Given the description of an element on the screen output the (x, y) to click on. 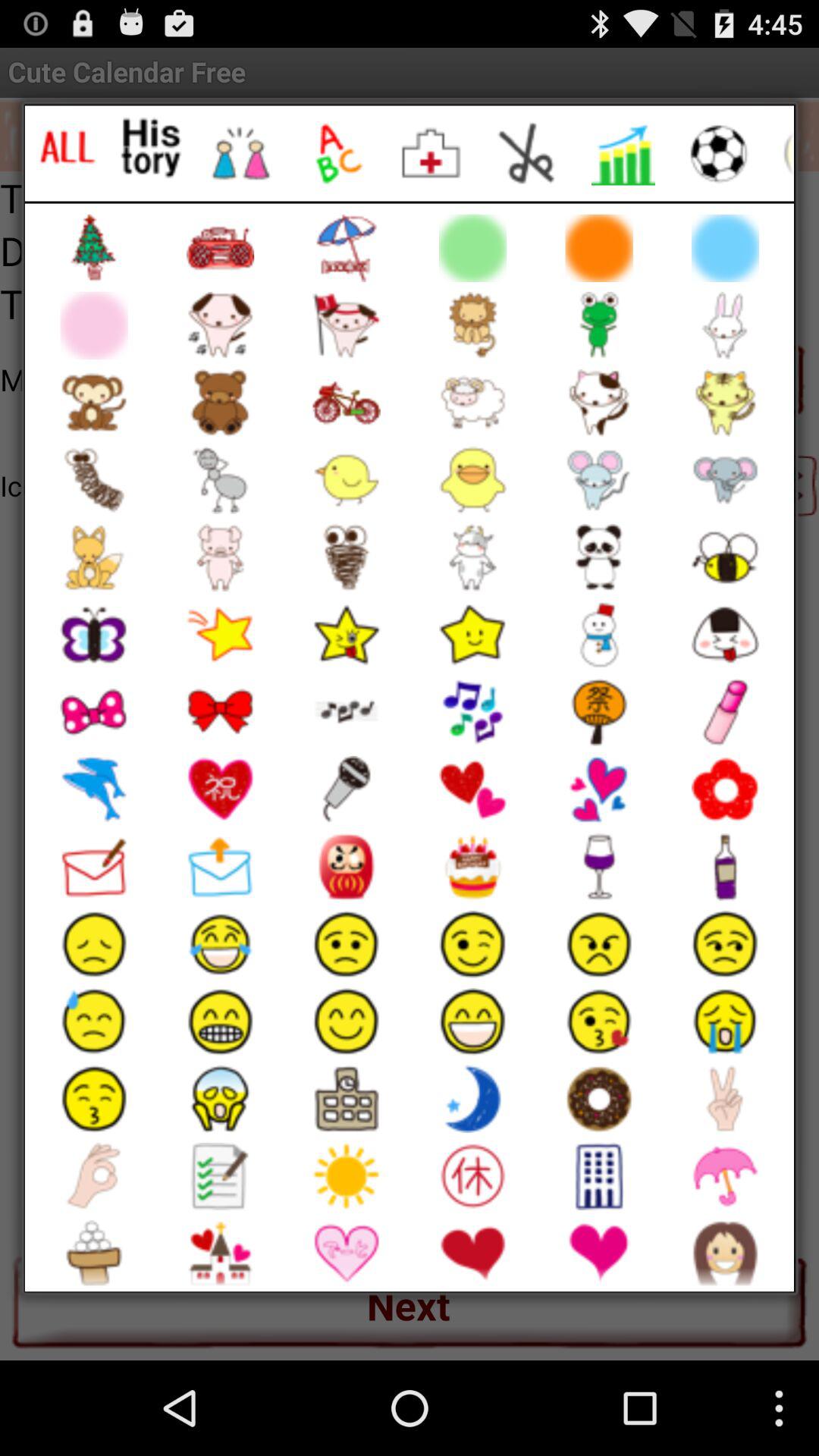
letter emojis (336, 153)
